Given the description of an element on the screen output the (x, y) to click on. 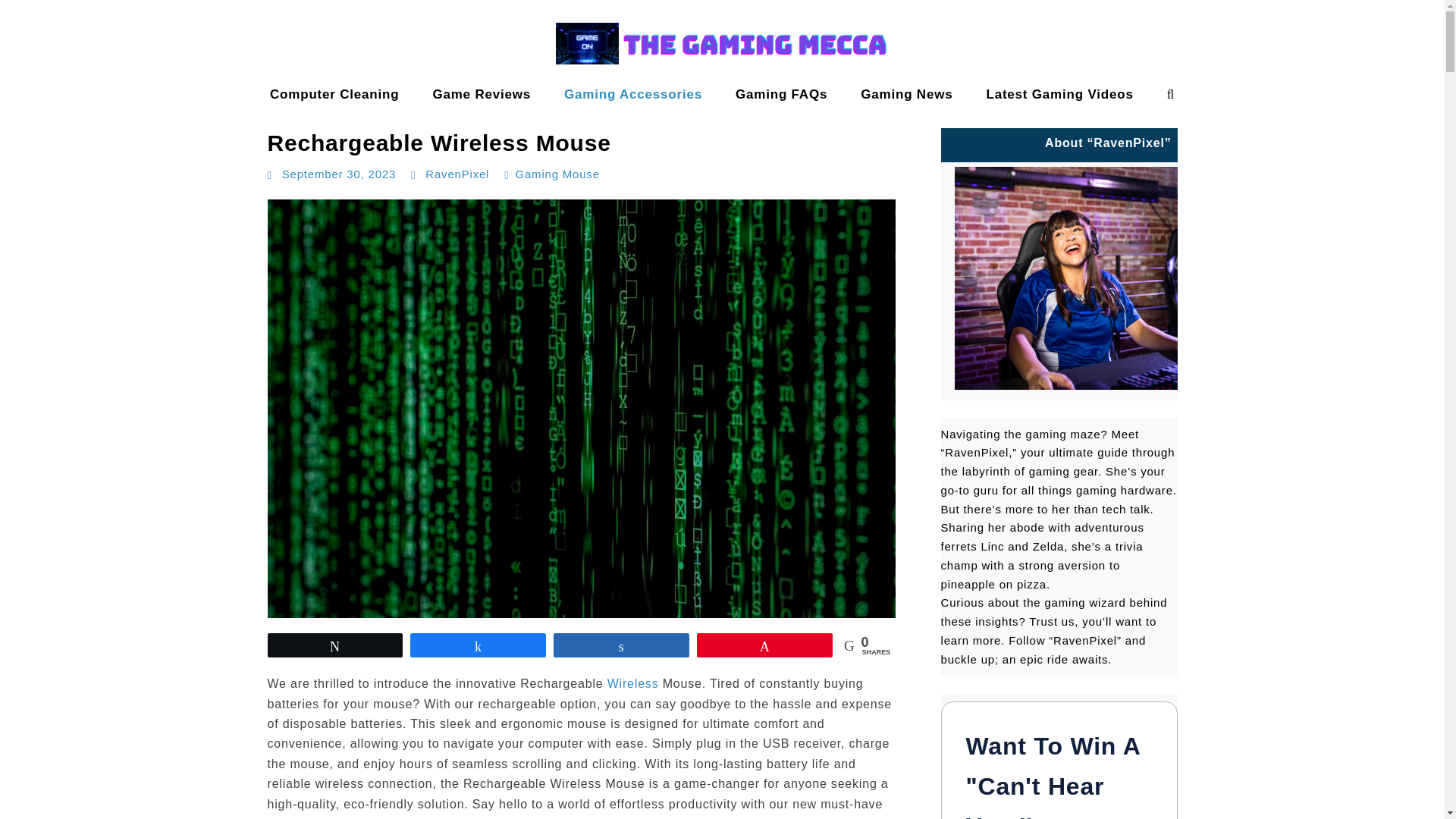
Game Reviews (480, 94)
Computer Cleaning (333, 94)
Wireless (633, 683)
Gaming News (906, 94)
Latest Gaming Videos (1059, 94)
Gaming Mouse (557, 173)
Gaming Accessories (633, 94)
The Gaming Mecca (74, 109)
Gaming FAQs (781, 94)
RavenPixel (457, 173)
